Given the description of an element on the screen output the (x, y) to click on. 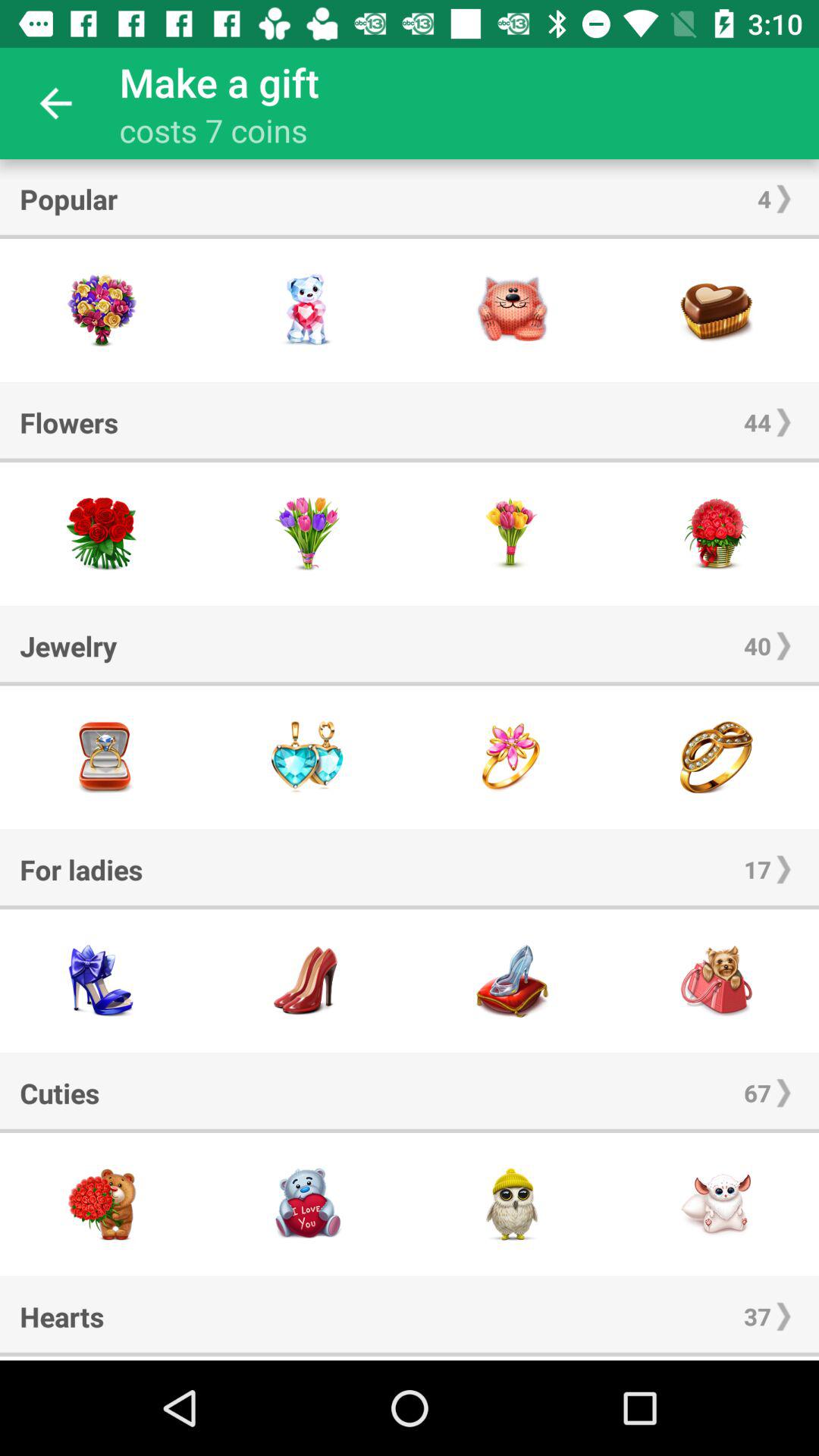
select this item (716, 757)
